Given the description of an element on the screen output the (x, y) to click on. 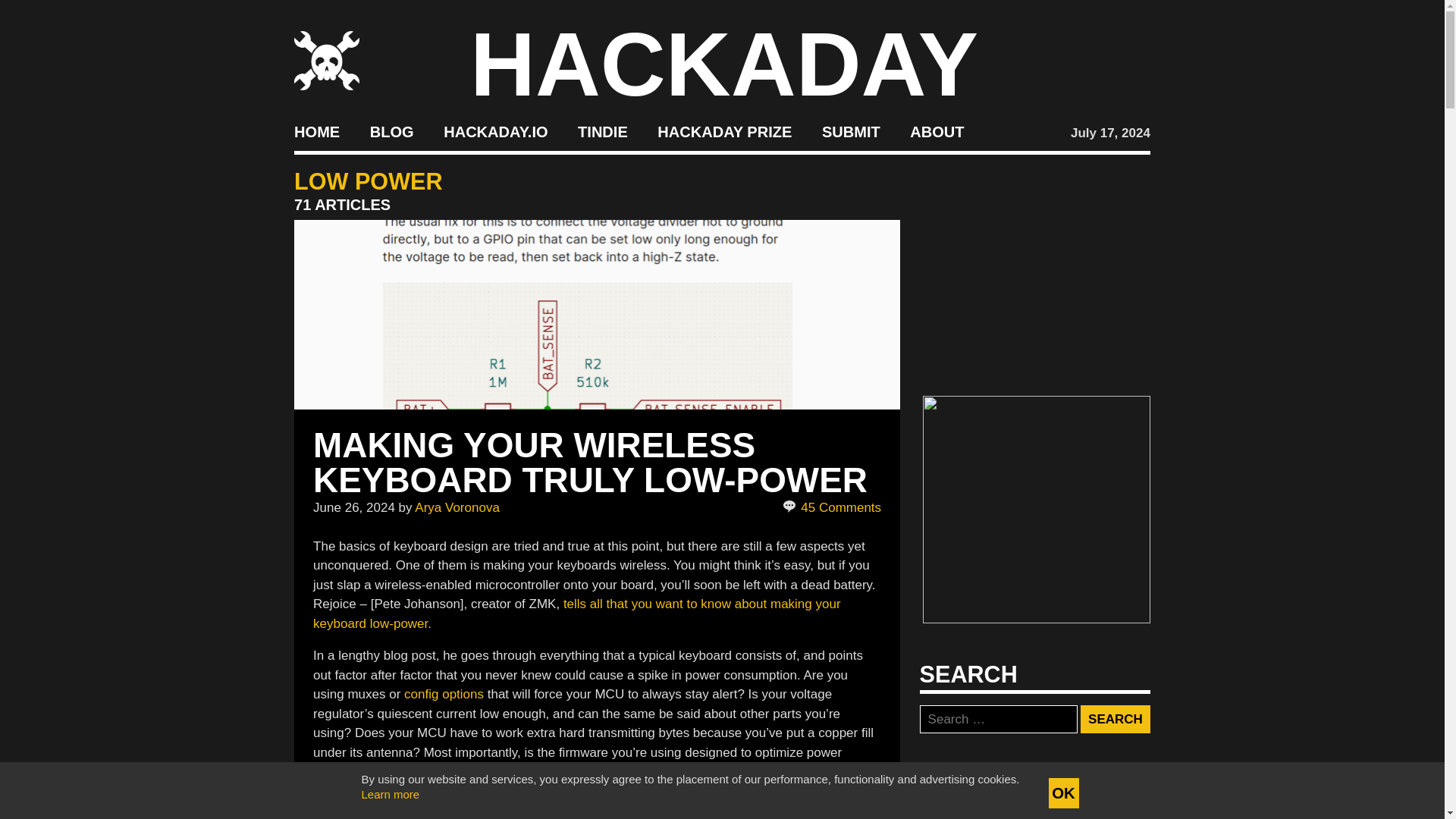
June 26, 2024 - 8:30 am (353, 507)
config options (443, 694)
MAKING YOUR WIRELESS KEYBOARD TRULY LOW-POWER (590, 462)
Build Something that Matters (725, 131)
HACKADAY.IO (495, 131)
Search (1115, 719)
Arya Voronova (456, 507)
HOME (316, 131)
TINDIE (602, 131)
HACKADAY (724, 63)
BLOG (391, 131)
ABOUT (936, 131)
Posts by Arya Voronova (456, 507)
Search (1115, 719)
